Given the description of an element on the screen output the (x, y) to click on. 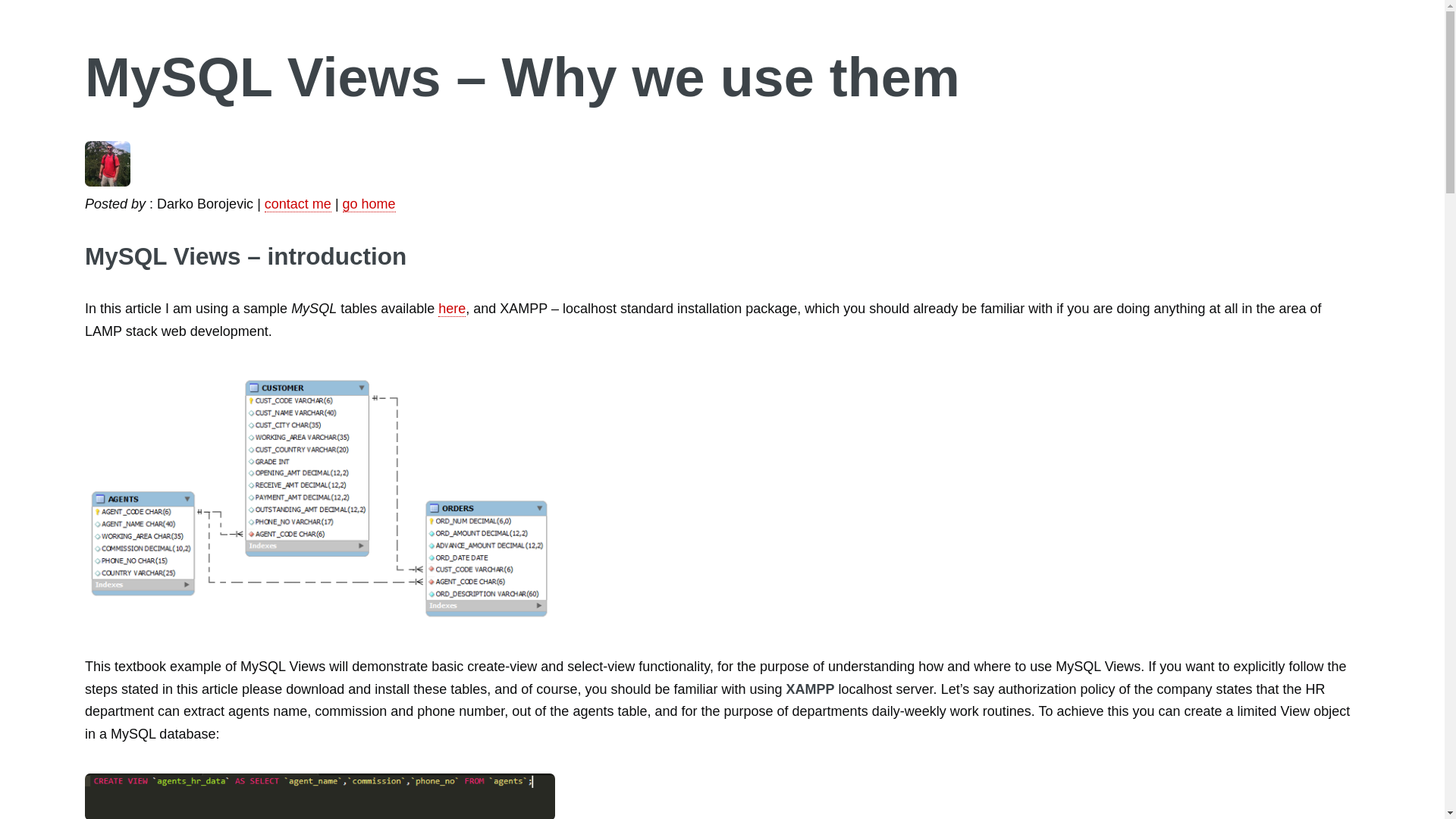
go home (369, 204)
contact me (297, 204)
here (451, 308)
mysql-tables (319, 499)
mysql-view (319, 796)
